Given the description of an element on the screen output the (x, y) to click on. 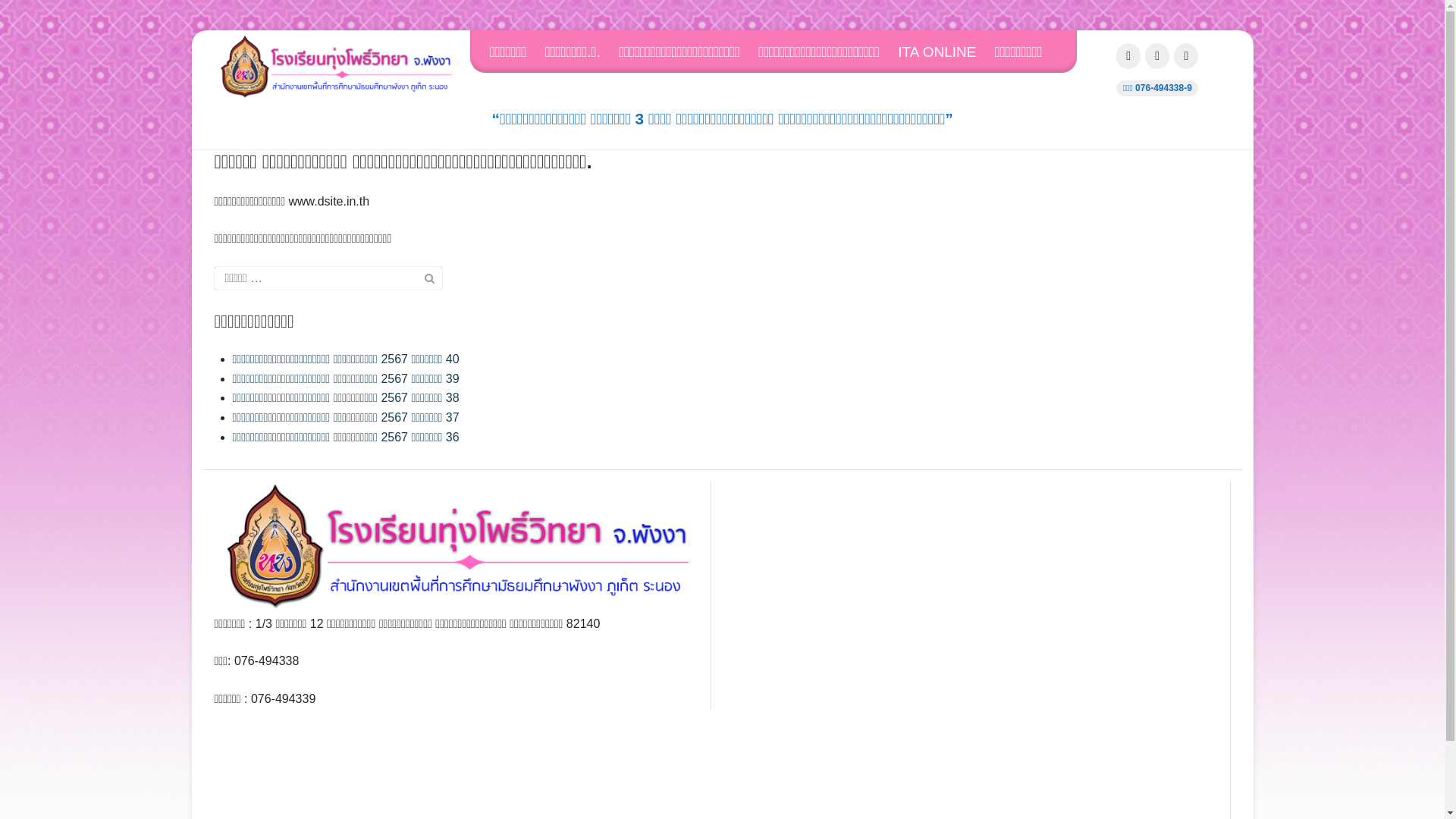
ITA ONLINE (944, 51)
